Given the description of an element on the screen output the (x, y) to click on. 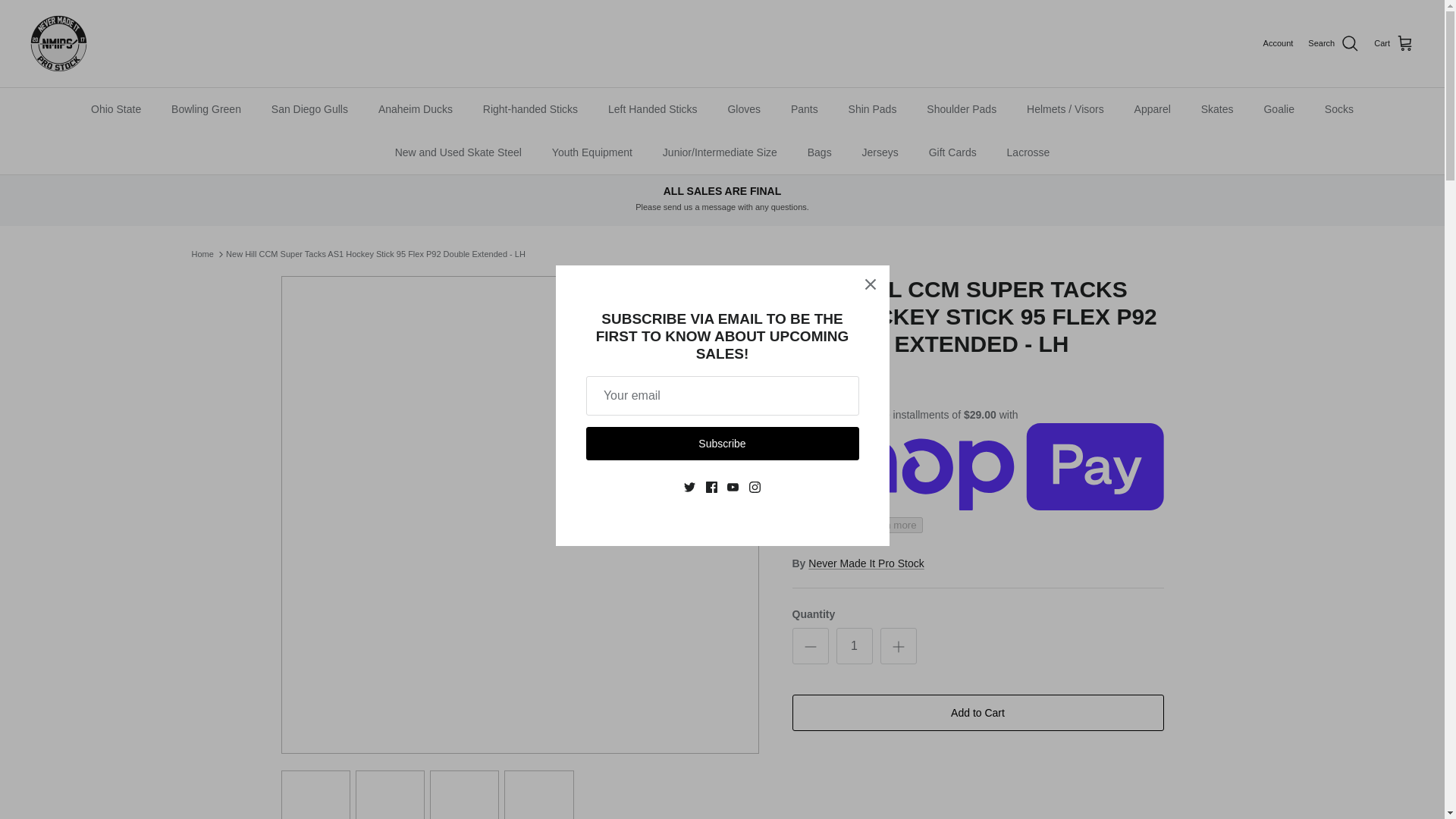
Right (741, 514)
Right-handed Sticks (529, 109)
Shin Pads (872, 109)
San Diego Gulls (309, 109)
Gloves (743, 109)
Bowling Green (205, 109)
Minus (809, 647)
Anaheim Ducks (415, 109)
Left Handed Sticks (652, 109)
Account (1278, 43)
